Given the description of an element on the screen output the (x, y) to click on. 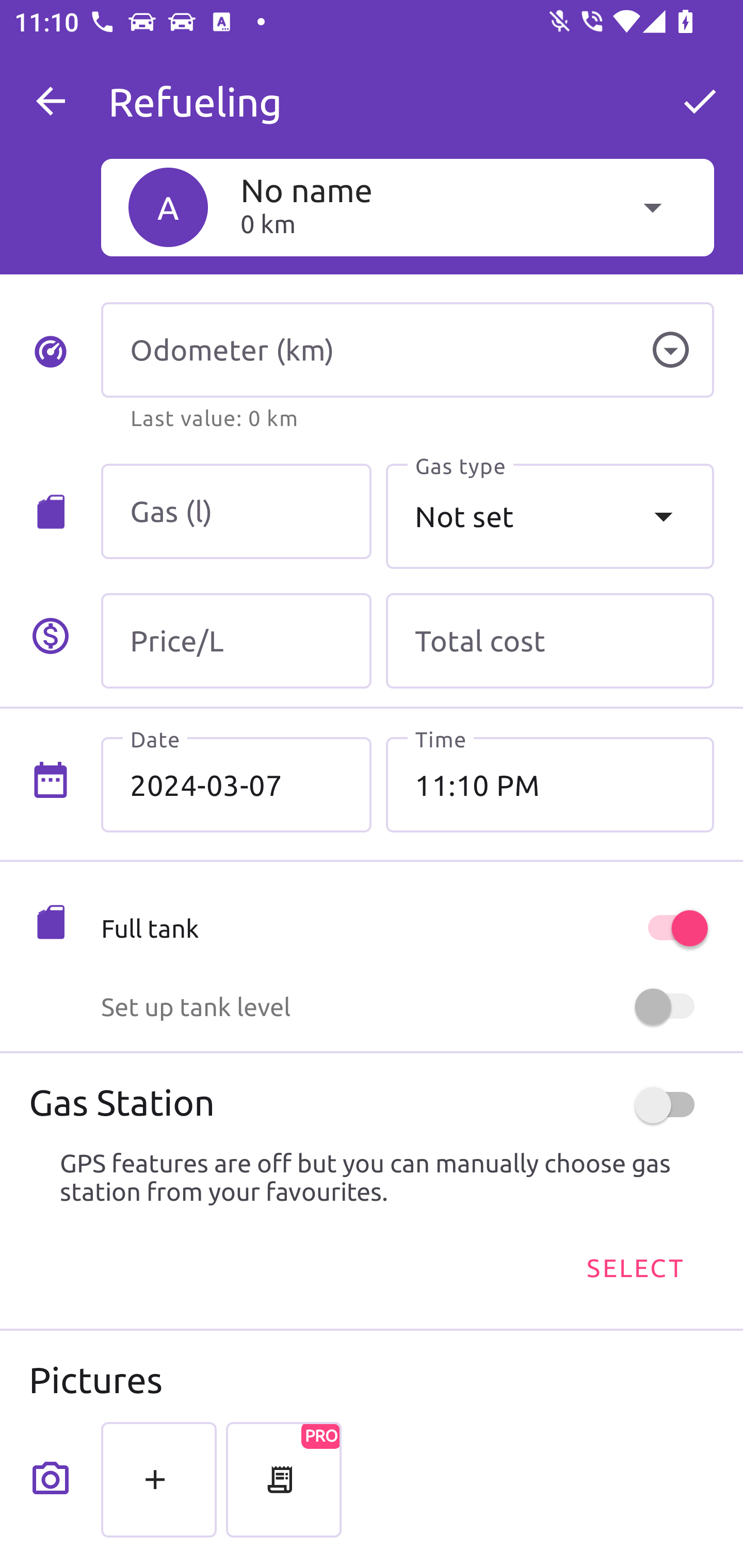
Navigate up (50, 101)
OK (699, 101)
A No name 0 km (407, 206)
Odometer (km) (407, 350)
Odometer (670, 349)
Gas (l) (236, 511)
Not set (549, 516)
Price/L (236, 640)
Total cost  (549, 640)
2024-03-07 (236, 784)
11:10 PM (549, 784)
Full tank (407, 928)
Set up tank level (407, 1006)
SELECT (634, 1267)
